Given the description of an element on the screen output the (x, y) to click on. 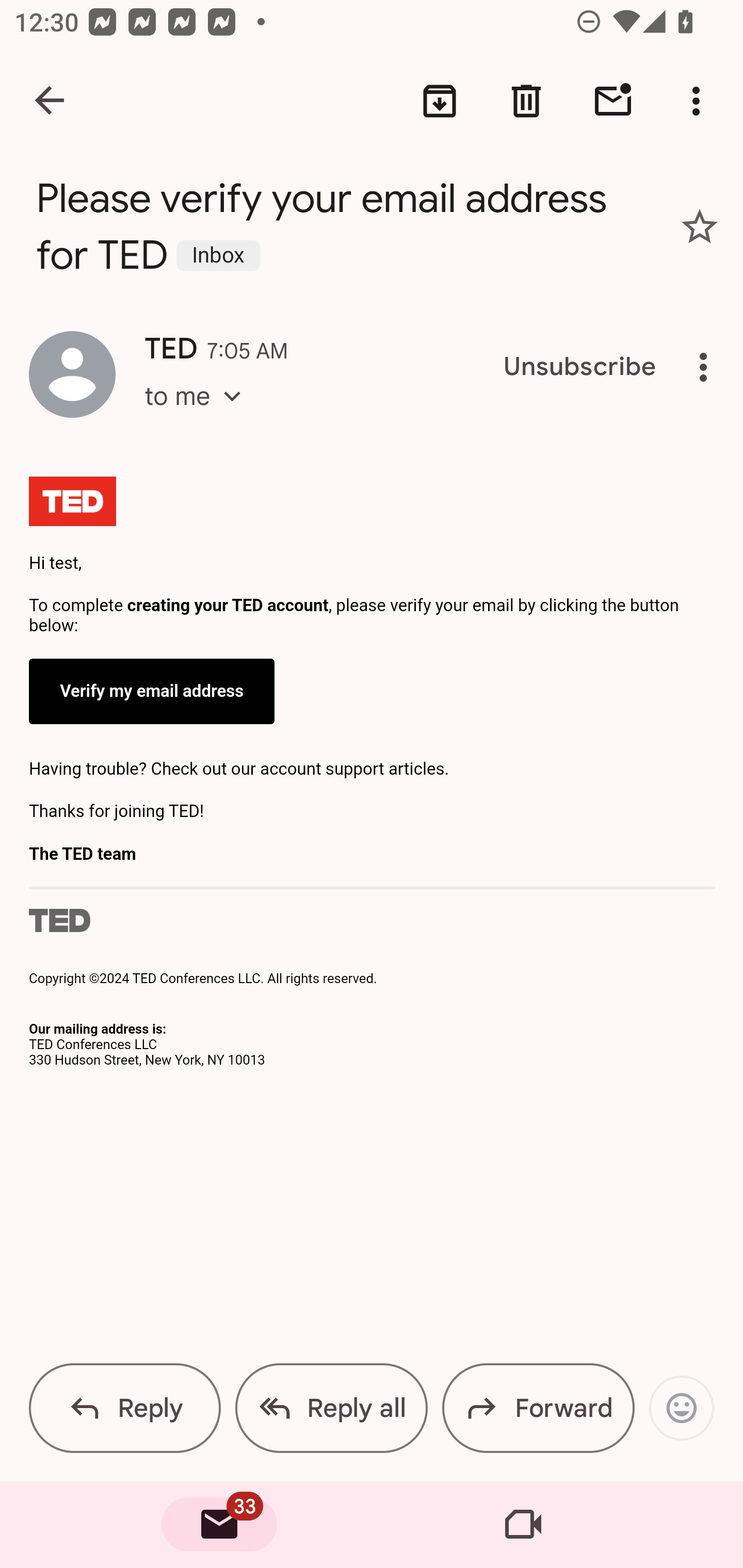
Navigate up (50, 101)
Archive (439, 101)
Delete (525, 101)
Mark unread (612, 101)
More options (699, 101)
Add star (699, 226)
Unsubscribe (579, 367)
More options (706, 367)
Show contact information for TED (71, 373)
to me (199, 414)
ted-transactional-email-logo (72, 503)
Verify my email address (152, 690)
Reply (124, 1407)
Reply all (331, 1407)
Forward (538, 1407)
Add emoji reaction (681, 1407)
Meet (523, 1524)
